Given the description of an element on the screen output the (x, y) to click on. 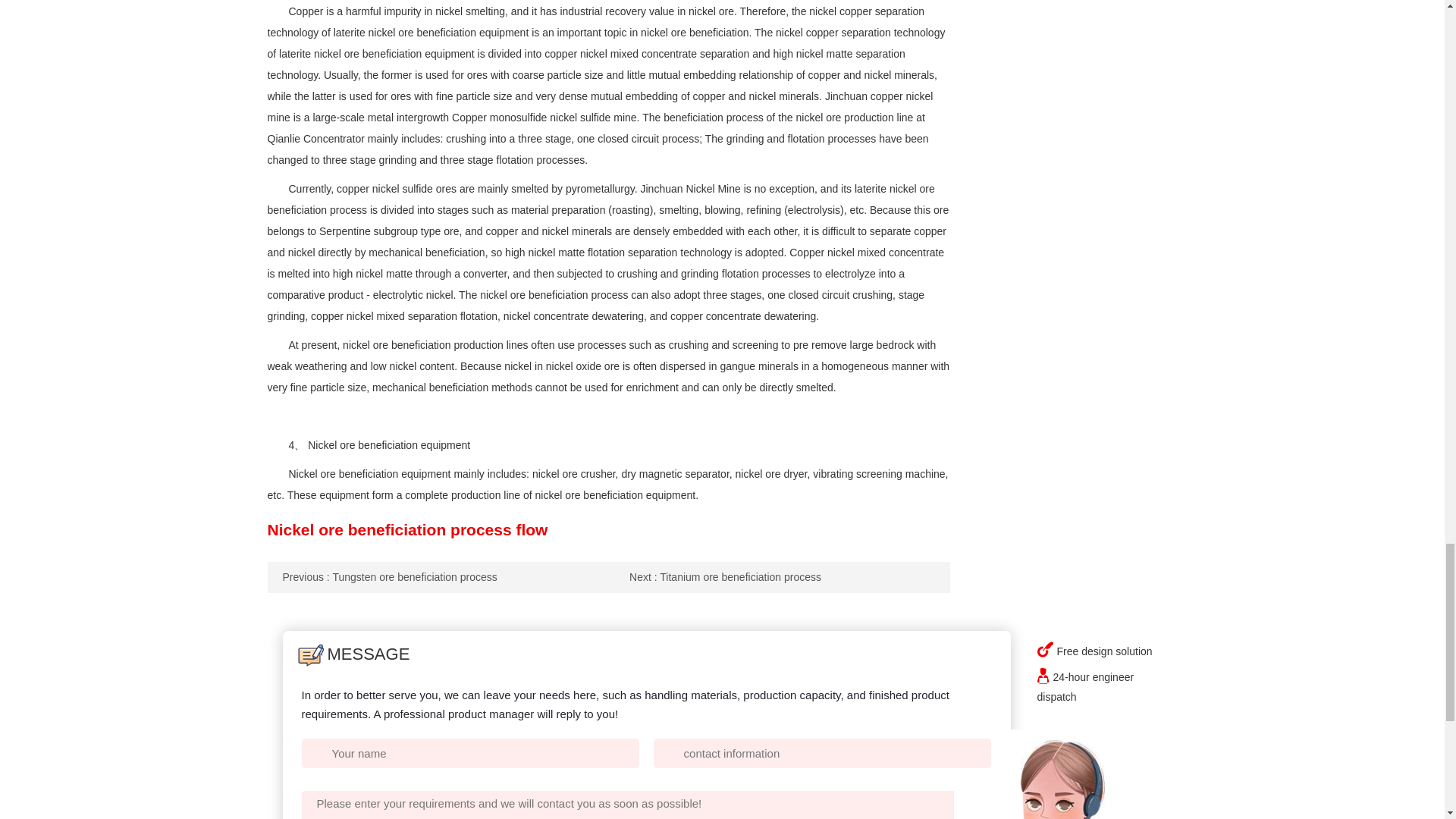
Next : Titanium ore beneficiation process (724, 576)
Titanium ore beneficiation process (724, 576)
MESSAGE (353, 653)
Previous : Tungsten ore beneficiation process (389, 576)
Tungsten ore beneficiation process (389, 576)
